Given the description of an element on the screen output the (x, y) to click on. 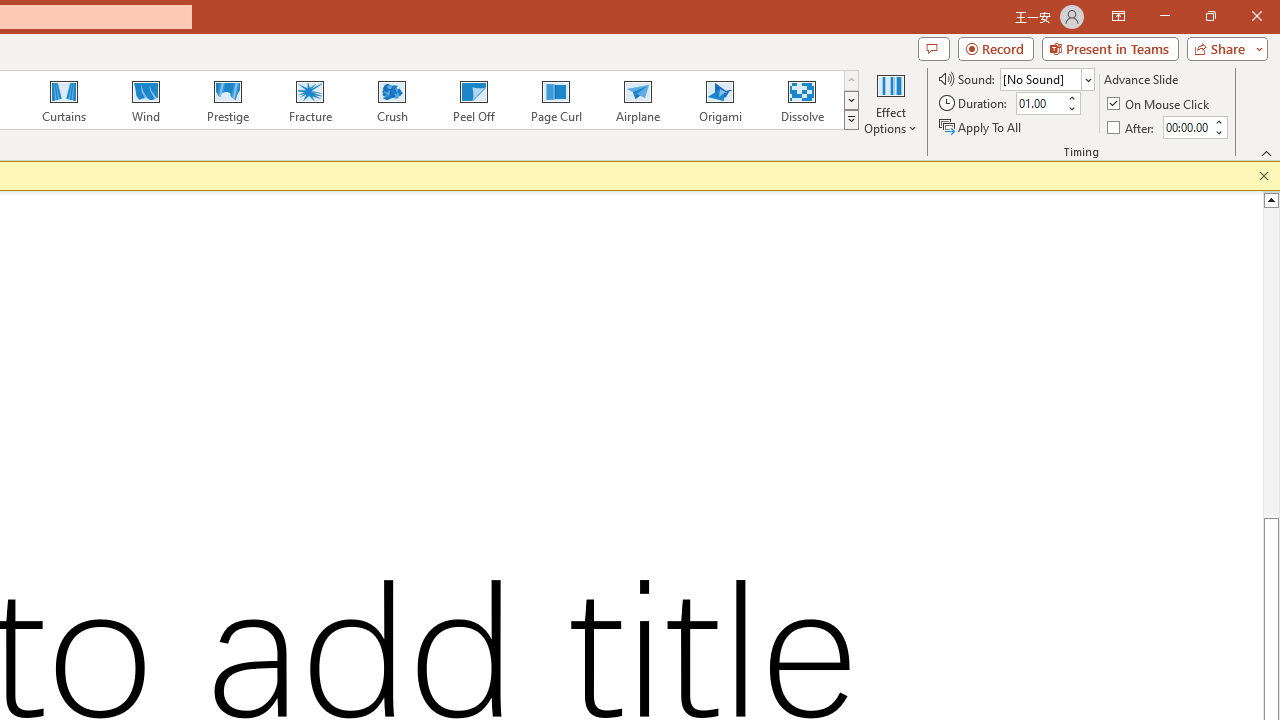
Page Curl (555, 100)
Origami (719, 100)
On Mouse Click (1159, 103)
Sound (1046, 78)
Crush (391, 100)
Curtains (63, 100)
Transition Effects (850, 120)
